Given the description of an element on the screen output the (x, y) to click on. 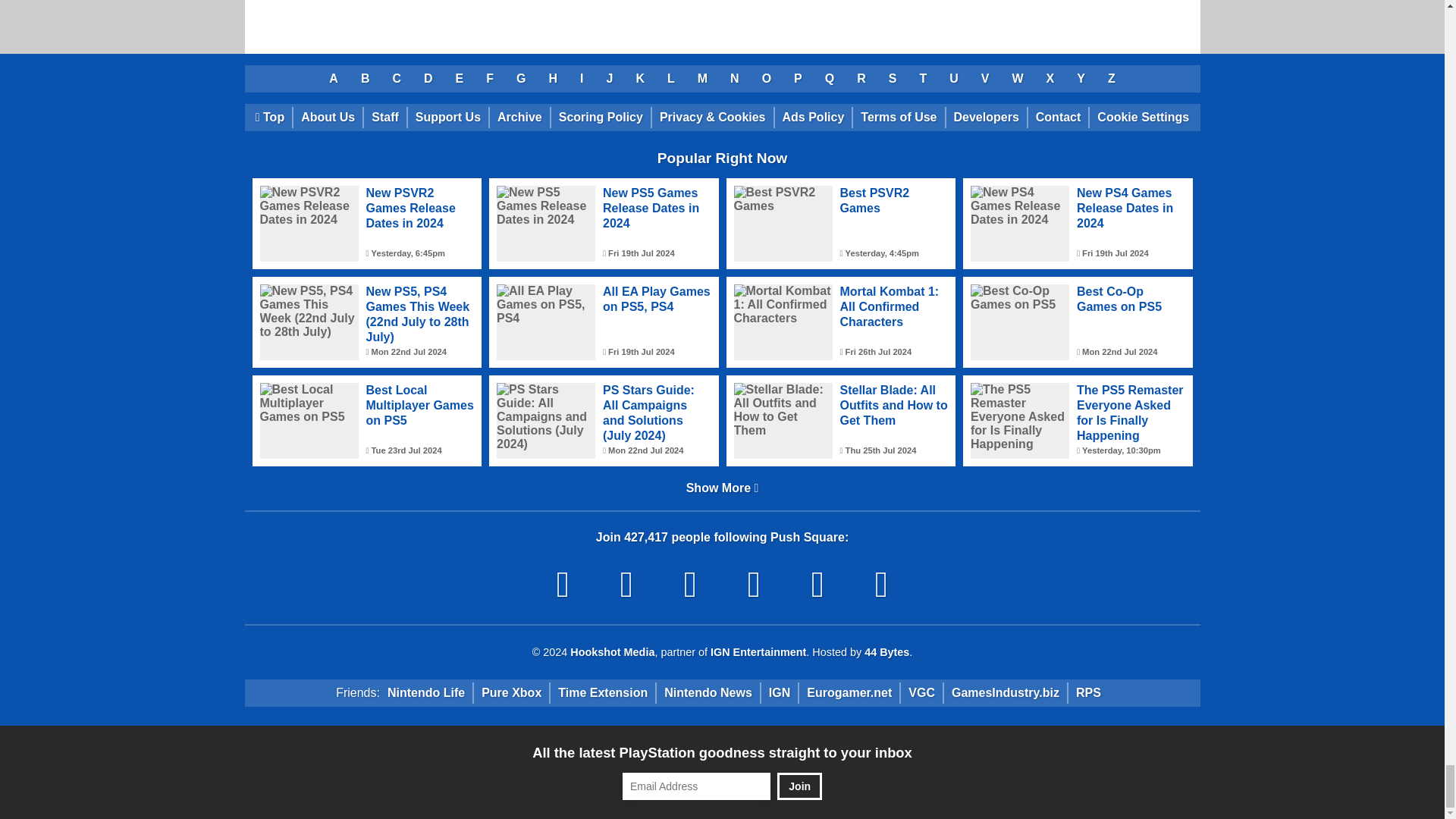
Join (799, 786)
